Given the description of an element on the screen output the (x, y) to click on. 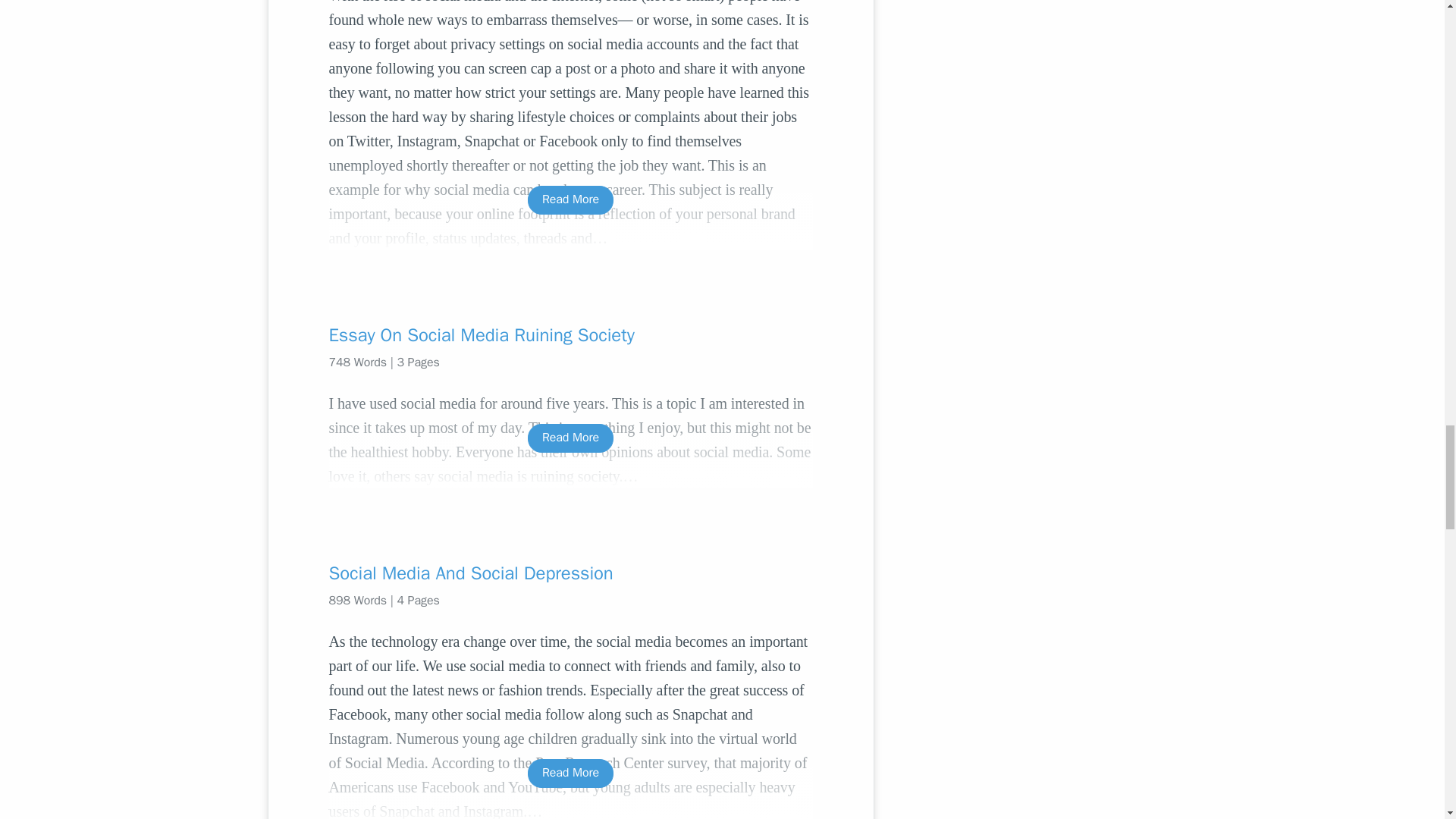
Essay On Social Media Ruining Society (570, 334)
Social Media And Social Depression (570, 573)
Read More (569, 199)
Read More (569, 773)
Read More (569, 438)
